Given the description of an element on the screen output the (x, y) to click on. 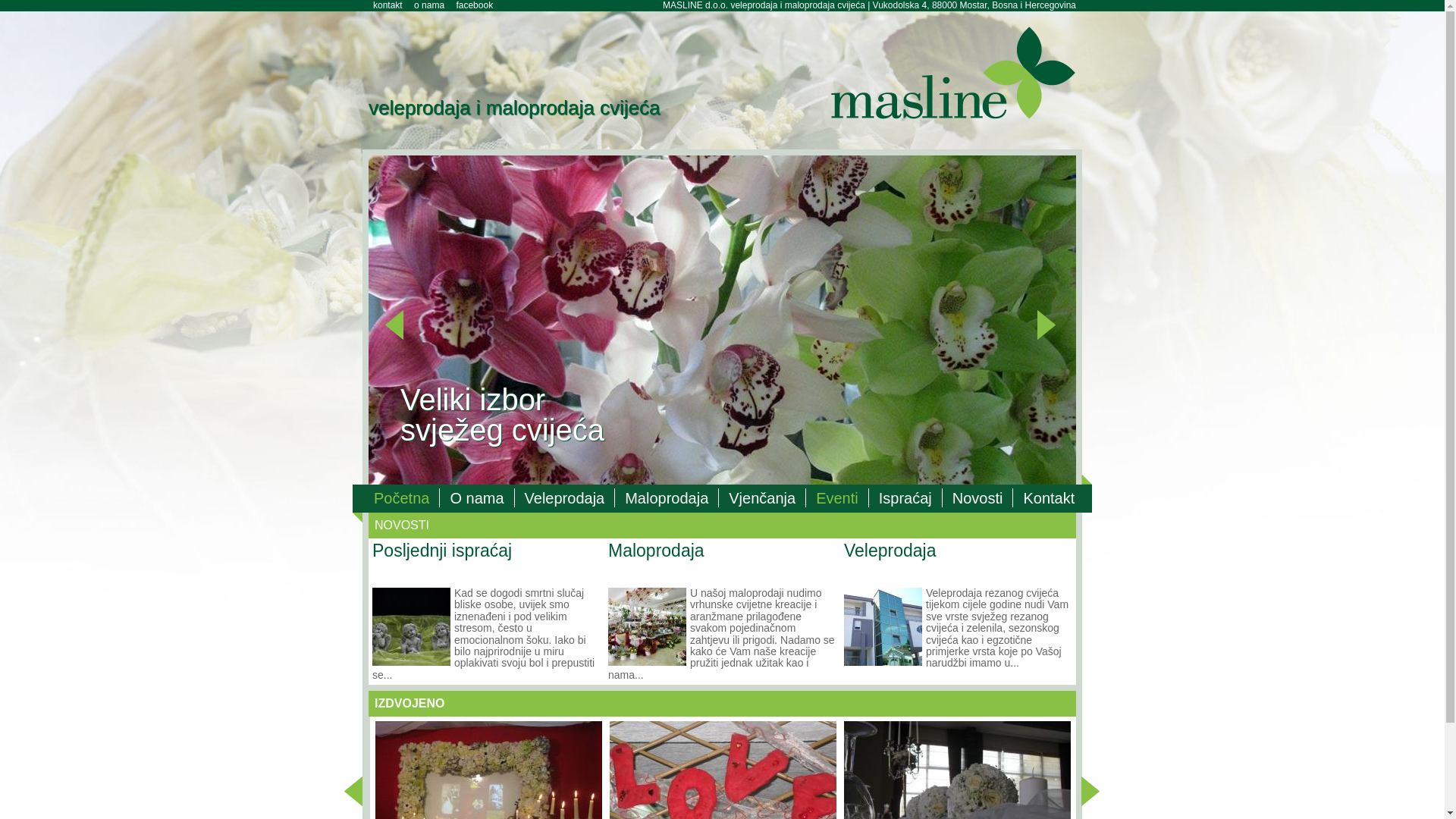
Next Element type: text (1097, 792)
Novosti Element type: text (977, 497)
Maloprodaja Element type: text (656, 550)
Previous Element type: text (401, 326)
Maloprodaja Element type: hover (647, 626)
o nama Element type: text (429, 5)
Kontakt Element type: text (1048, 497)
Veleprodaja Element type: hover (883, 626)
Next Element type: text (1053, 326)
facebook Element type: text (473, 5)
kontakt Element type: text (387, 5)
Eventi Element type: text (837, 497)
Previous Element type: text (360, 792)
Maloprodaja Element type: text (666, 497)
O nama Element type: text (476, 497)
Veleprodaja Element type: text (890, 550)
Veleprodaja Element type: text (564, 497)
